Given the description of an element on the screen output the (x, y) to click on. 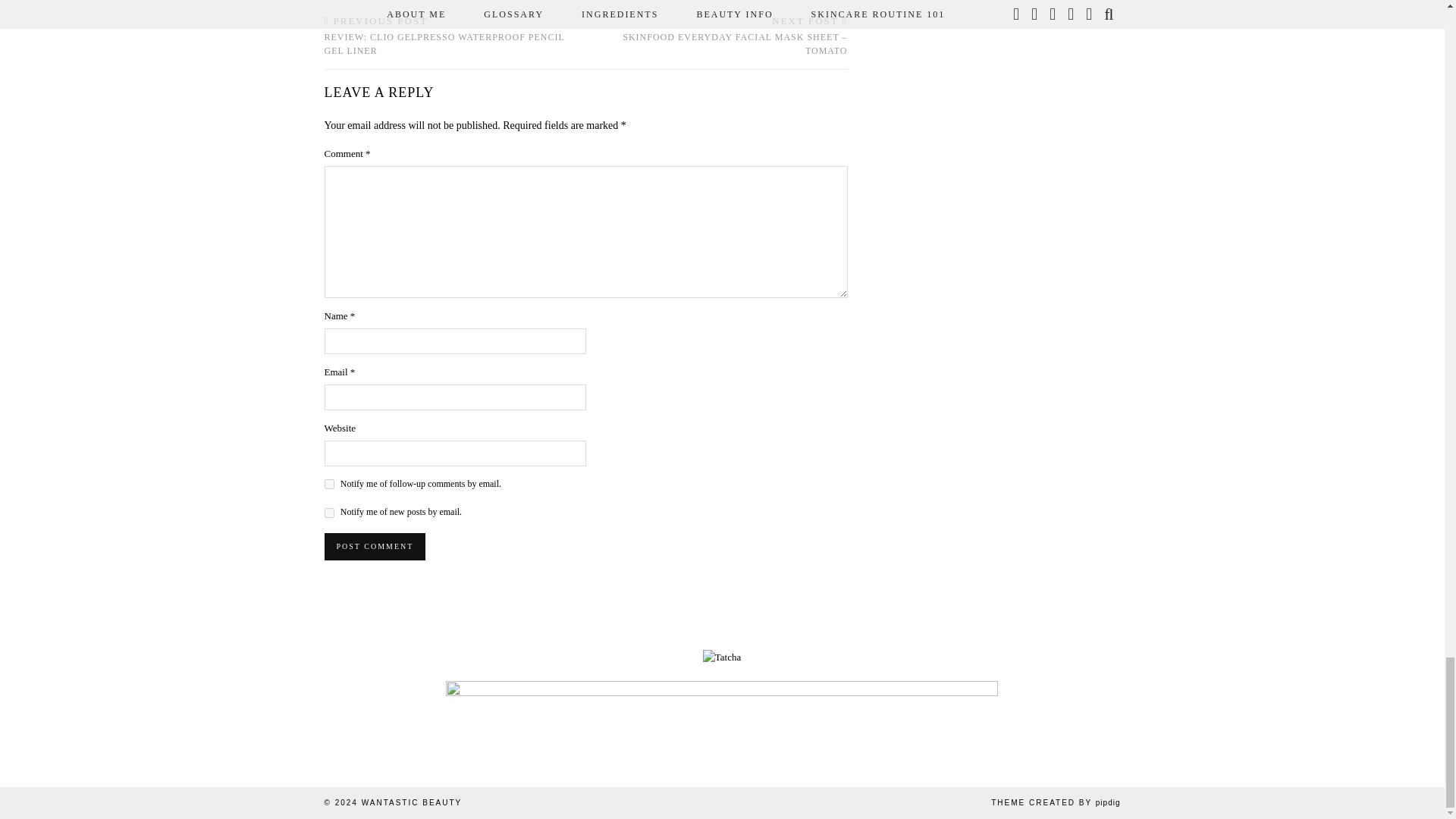
subscribe (329, 483)
Post Comment (375, 546)
subscribe (329, 512)
